Given the description of an element on the screen output the (x, y) to click on. 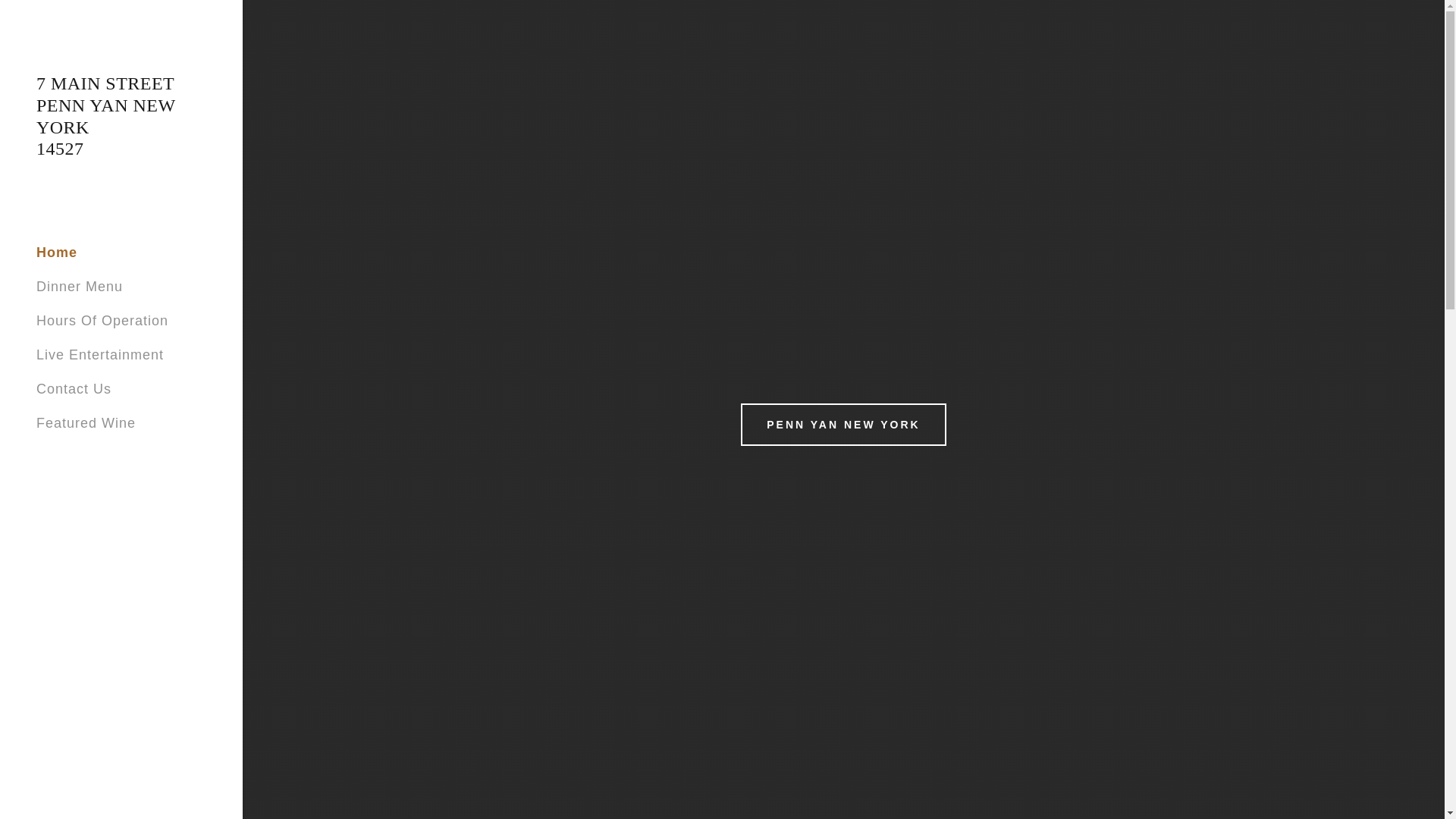
Home Element type: text (56, 252)
7 MAIN STREET PENN YAN NEW YORK
14527 Element type: text (121, 149)
Dinner Menu Element type: text (79, 286)
Live Entertainment Element type: text (99, 354)
Featured Wine Element type: text (85, 422)
PENN YAN NEW YORK Element type: text (842, 424)
Hours Of Operation Element type: text (102, 320)
Contact Us Element type: text (73, 388)
